Given the description of an element on the screen output the (x, y) to click on. 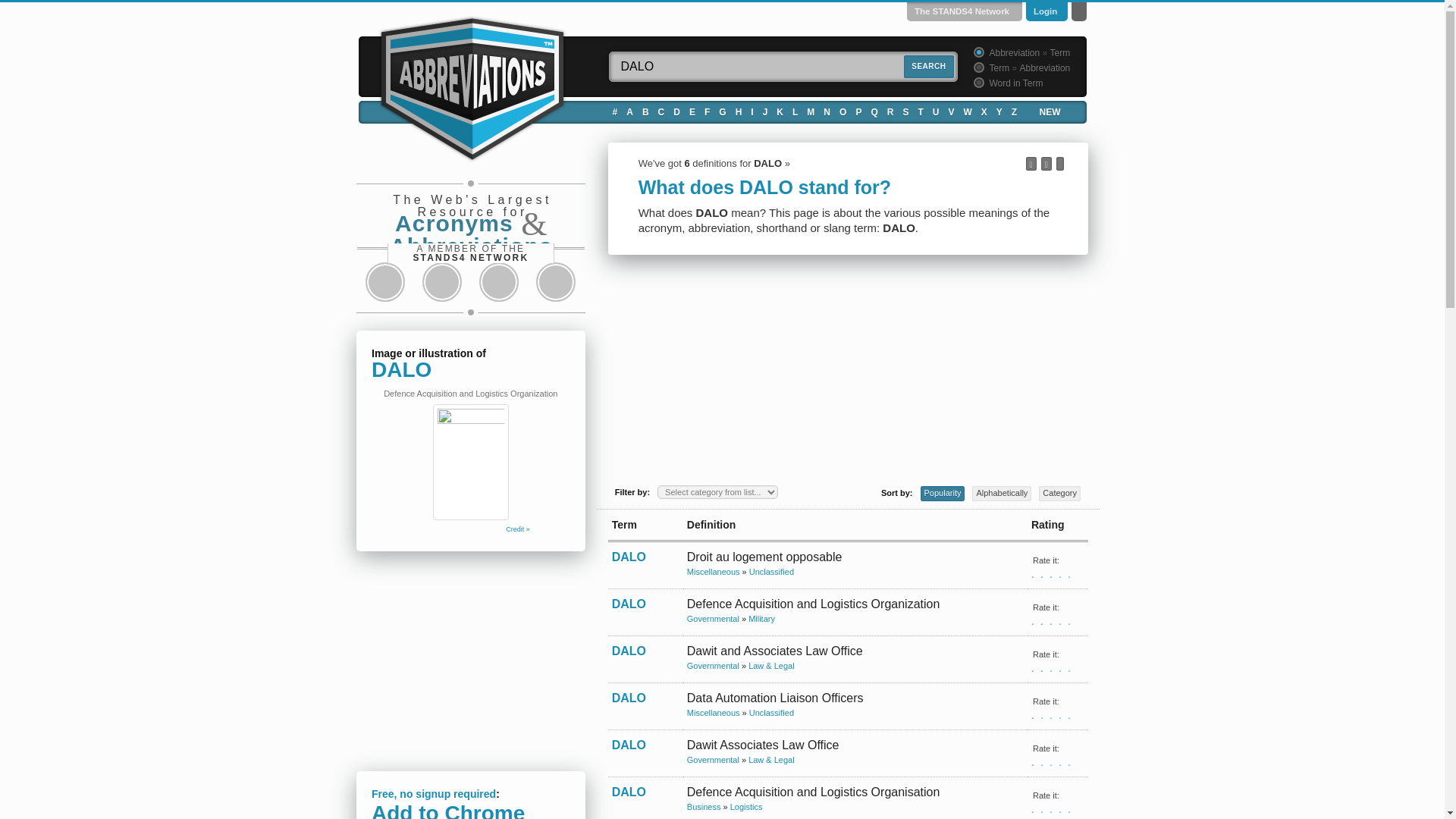
Abbreviations.com (471, 86)
Share this page on Twitter (441, 282)
DALO (782, 66)
2 (976, 67)
Login (1045, 10)
Share this page on Reddit (498, 282)
3 (976, 81)
1 (976, 51)
DALO (782, 66)
Share this page on Facebook (384, 282)
SEARCH (928, 66)
